Given the description of an element on the screen output the (x, y) to click on. 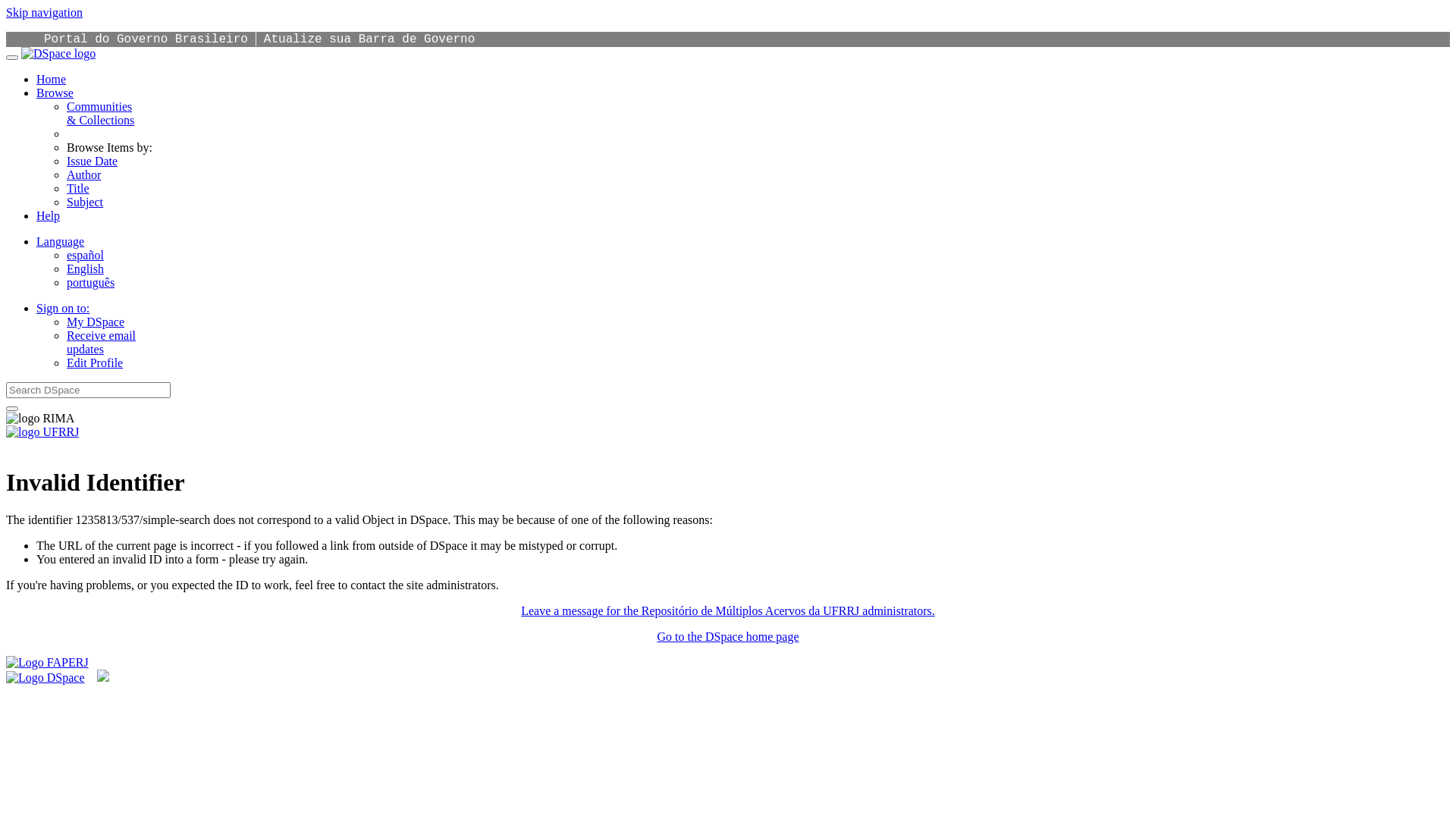
Author Element type: text (83, 174)
Receive email
updates Element type: text (100, 342)
Sign on to: Element type: text (62, 307)
Language Element type: text (60, 241)
English Element type: text (84, 268)
Browse Element type: text (54, 92)
Issue Date Element type: text (91, 160)
Edit Profile Element type: text (94, 362)
Go to the DSpace home page Element type: text (727, 636)
Communities
& Collections Element type: text (100, 113)
Title Element type: text (77, 188)
Subject Element type: text (84, 201)
Atualize sua Barra de Governo Element type: text (368, 39)
Home Element type: text (50, 78)
My DSpace Element type: text (95, 321)
Portal do Governo Brasileiro Element type: text (145, 39)
Skip navigation Element type: text (44, 12)
Help Element type: text (47, 215)
